Given the description of an element on the screen output the (x, y) to click on. 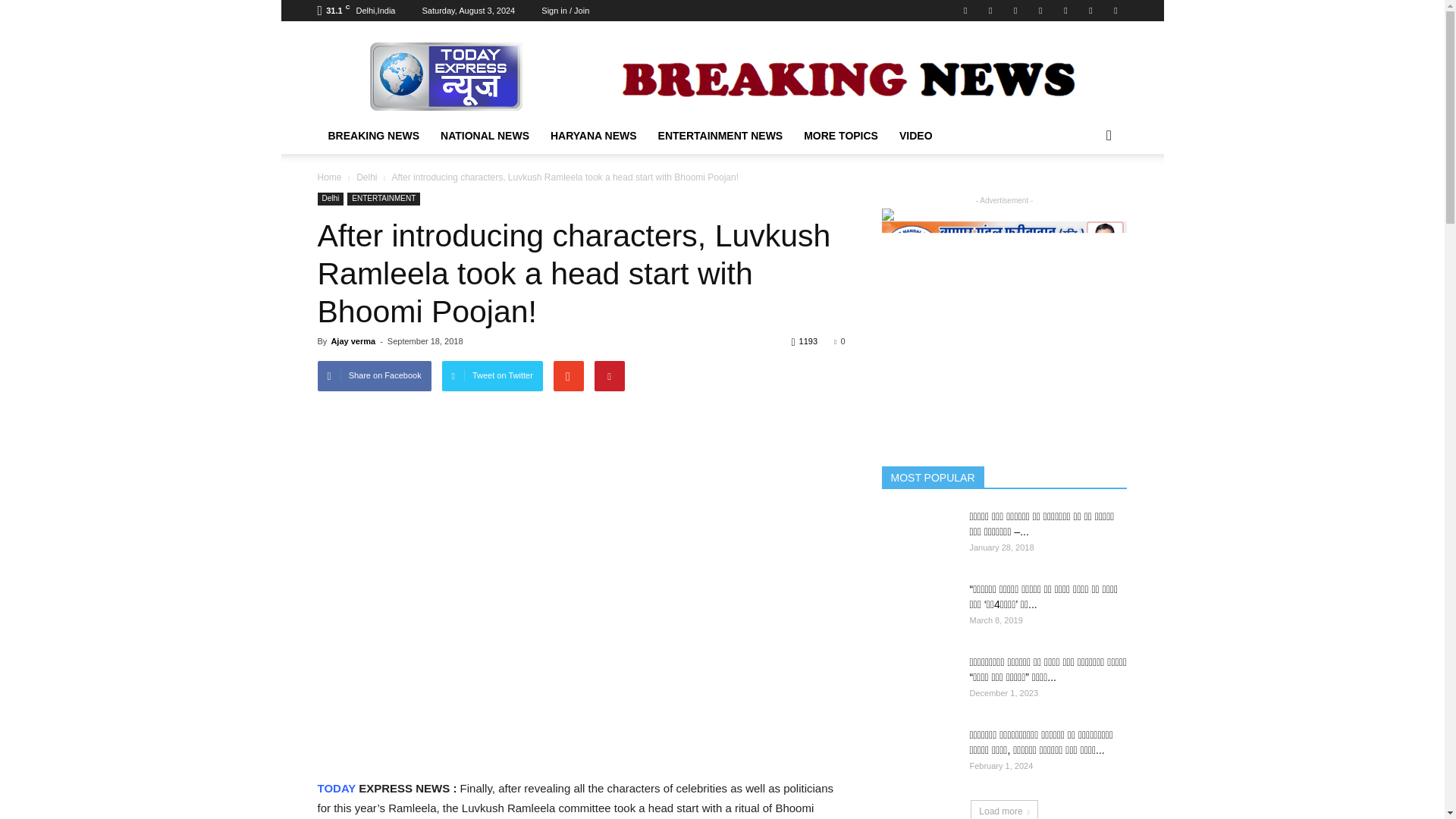
Instagram (989, 10)
Youtube (1114, 10)
Mail (1015, 10)
Twitter (1040, 10)
VKontakte (1090, 10)
Vimeo (1065, 10)
View all posts in Delhi (366, 176)
Facebook (964, 10)
